Given the description of an element on the screen output the (x, y) to click on. 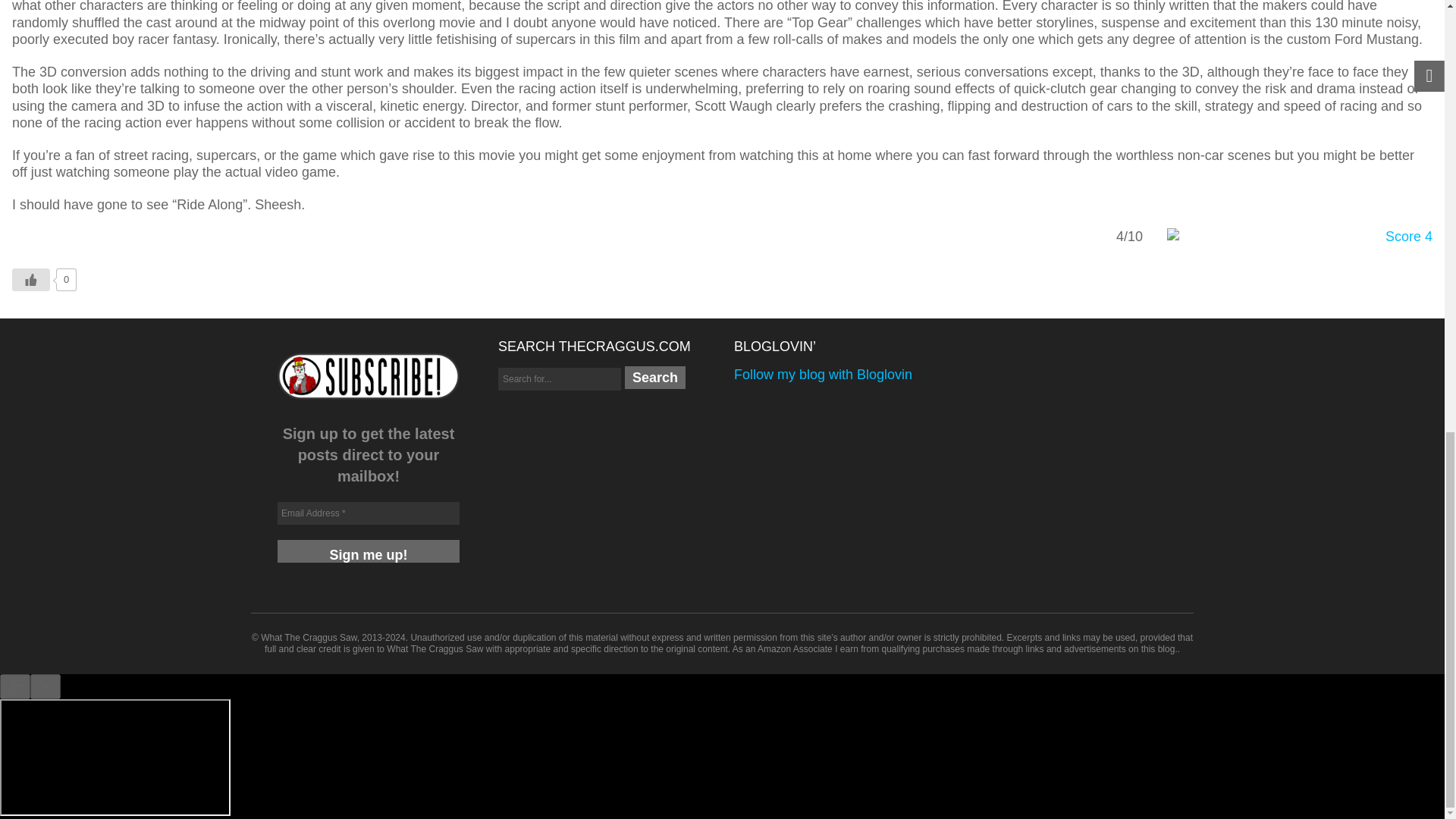
Sign me up! (369, 550)
Email Address (369, 513)
Search for... (559, 378)
Search (654, 377)
Search (654, 377)
Search (654, 377)
Sign me up! (369, 550)
